Given the description of an element on the screen output the (x, y) to click on. 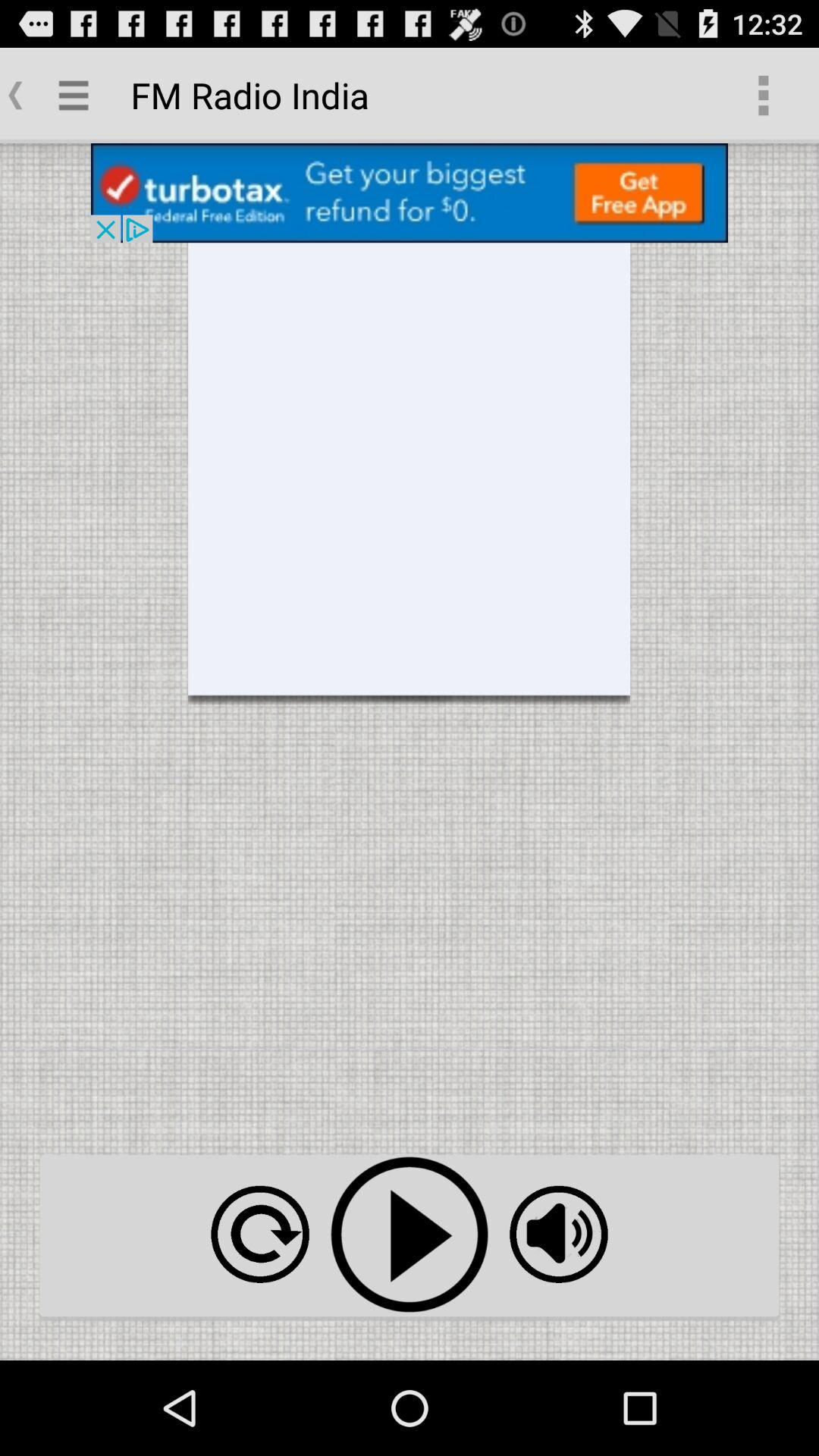
tap the item next to fm radio india (763, 95)
